Given the description of an element on the screen output the (x, y) to click on. 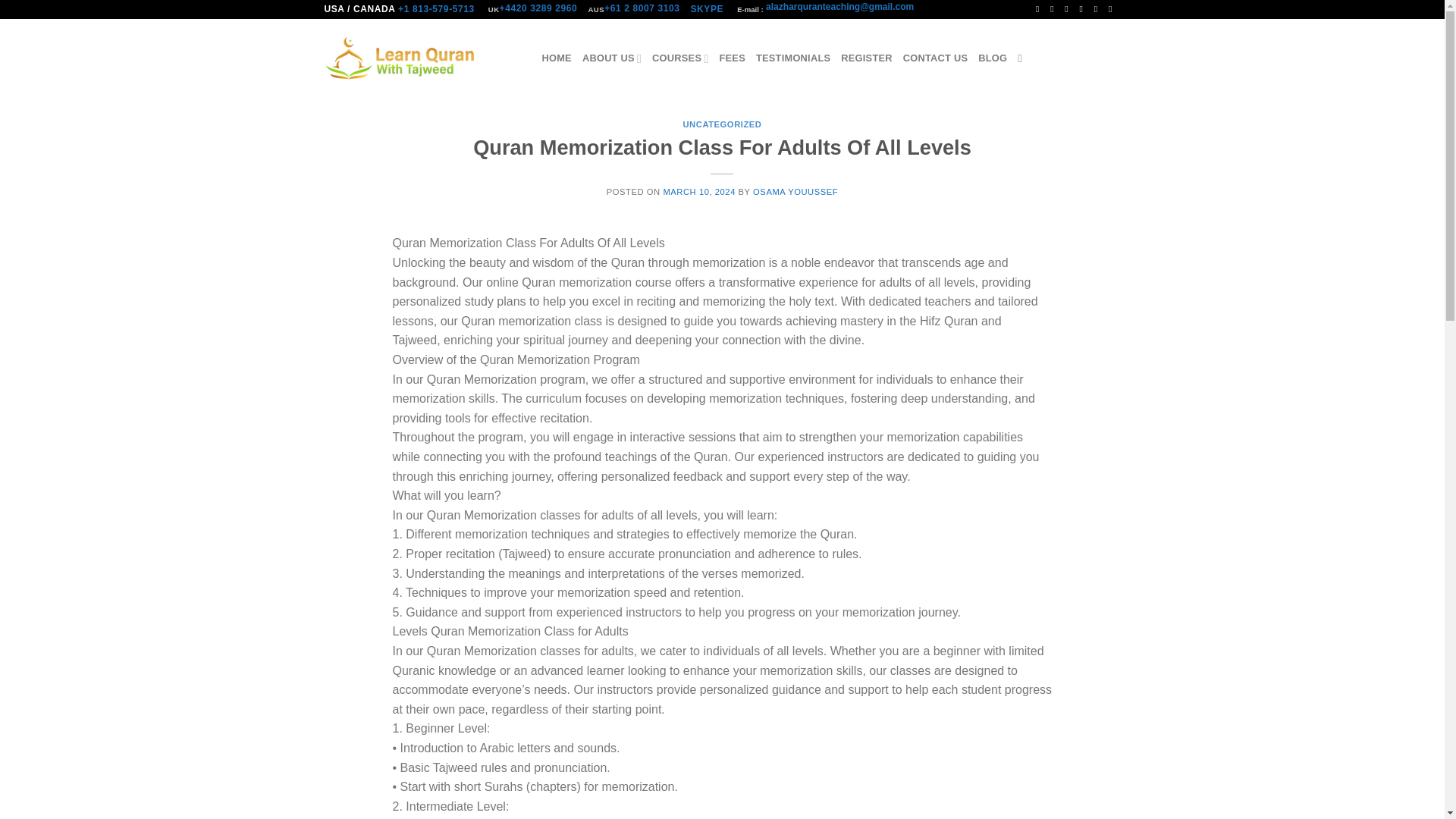
TESTIMONIALS (792, 58)
ABOUT US (612, 58)
COURSES (679, 58)
Send us an email (1084, 9)
Learn Quran With Tajweed - Just another WordPress site (400, 58)
CONTACT US (935, 58)
Follow on Facebook (1040, 9)
SKYPE (708, 9)
UK (493, 9)
E-mail : (749, 9)
UNCATEGORIZED (721, 123)
Follow on Twitter (1069, 9)
Follow on YouTube (1113, 9)
FEES (731, 58)
